Given the description of an element on the screen output the (x, y) to click on. 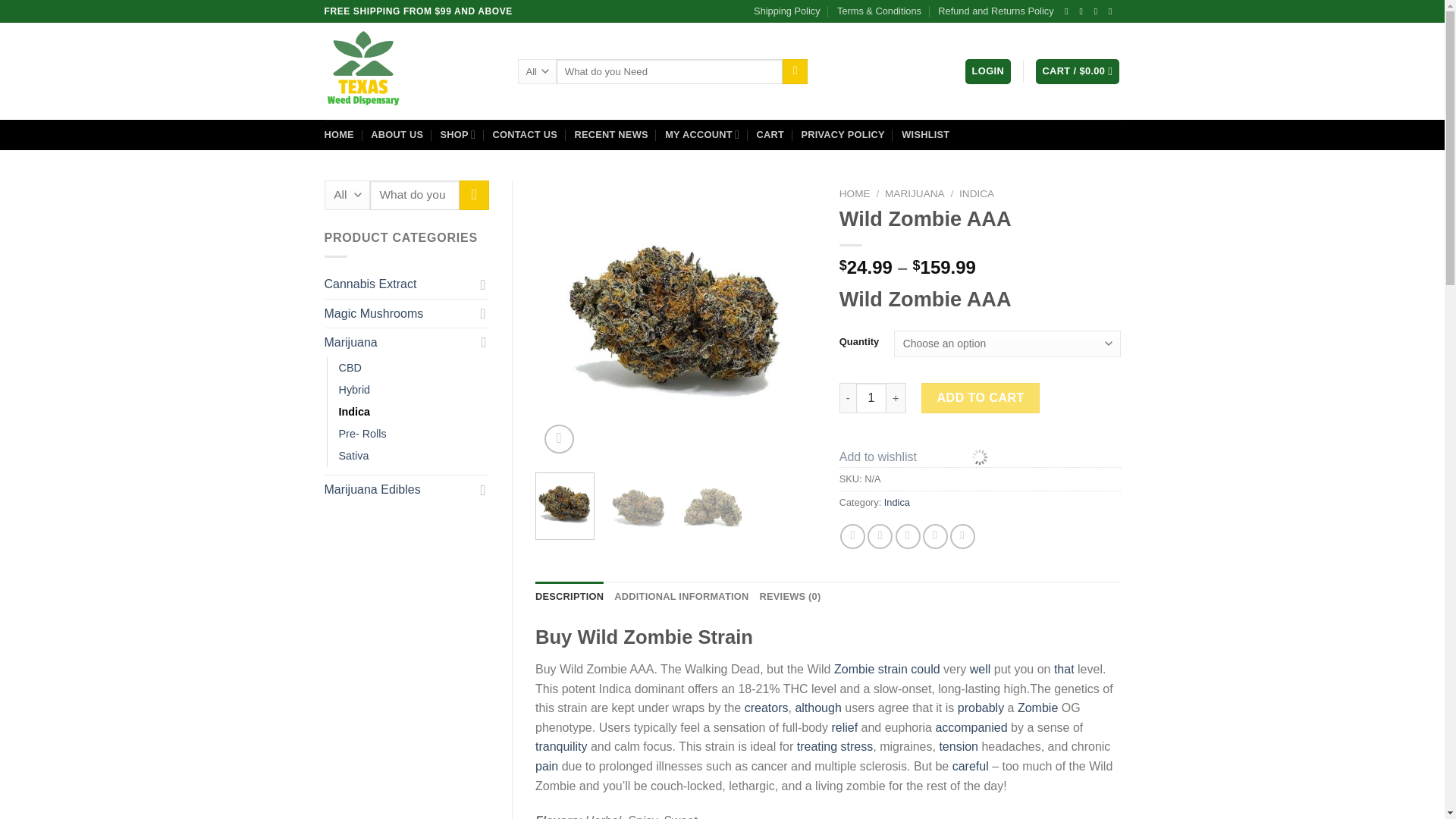
1 (871, 398)
Email to a Friend (907, 536)
Shipping Policy (787, 11)
SHOP (458, 134)
ABOUT US (397, 134)
Share on Twitter (879, 536)
Search (795, 71)
Cart (1077, 71)
LOGIN (987, 71)
Share on Facebook (852, 536)
Pin on Pinterest (935, 536)
HOME (338, 134)
Zoom (558, 439)
Share on LinkedIn (962, 536)
